Given the description of an element on the screen output the (x, y) to click on. 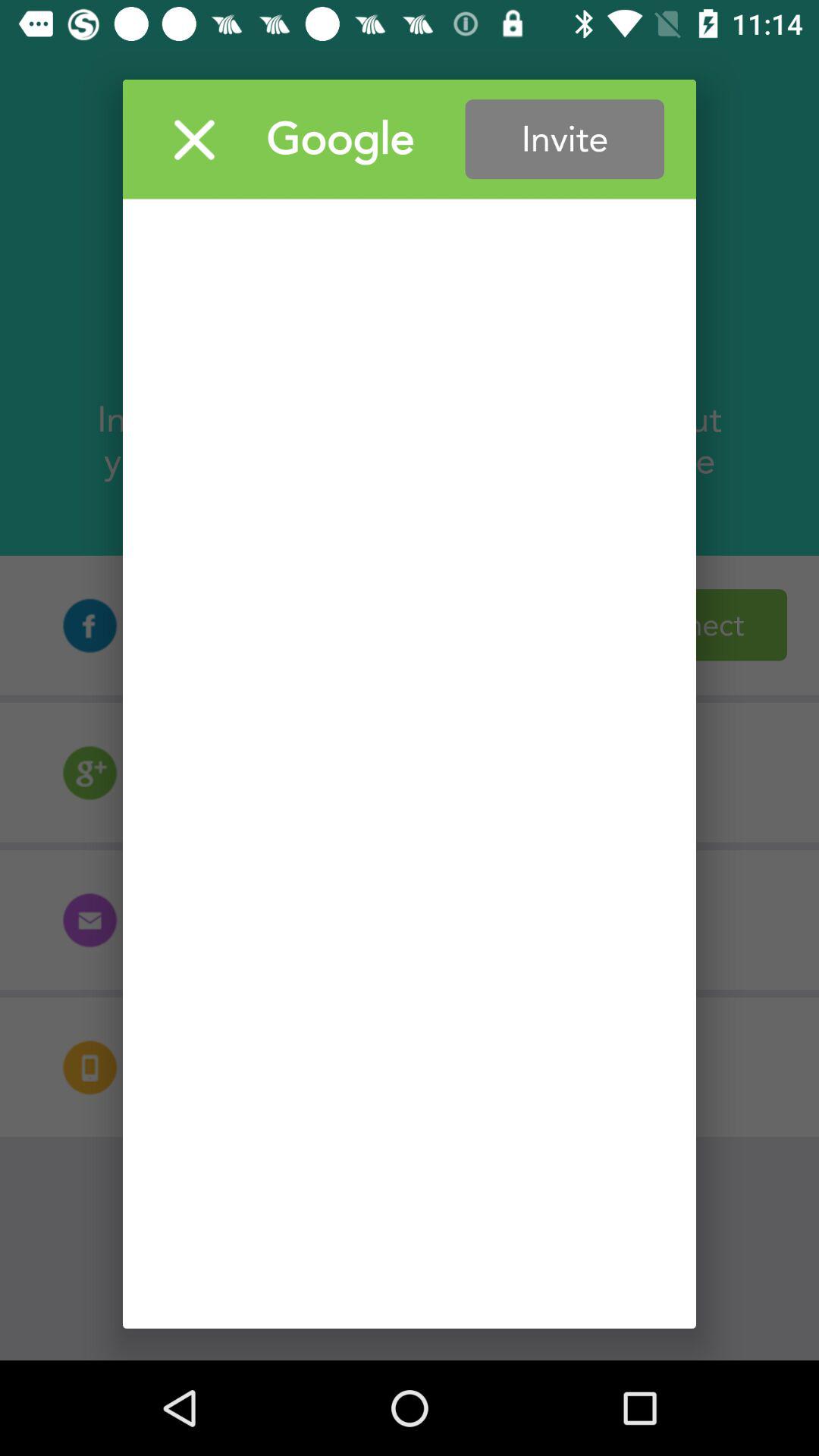
close screen (194, 139)
